Given the description of an element on the screen output the (x, y) to click on. 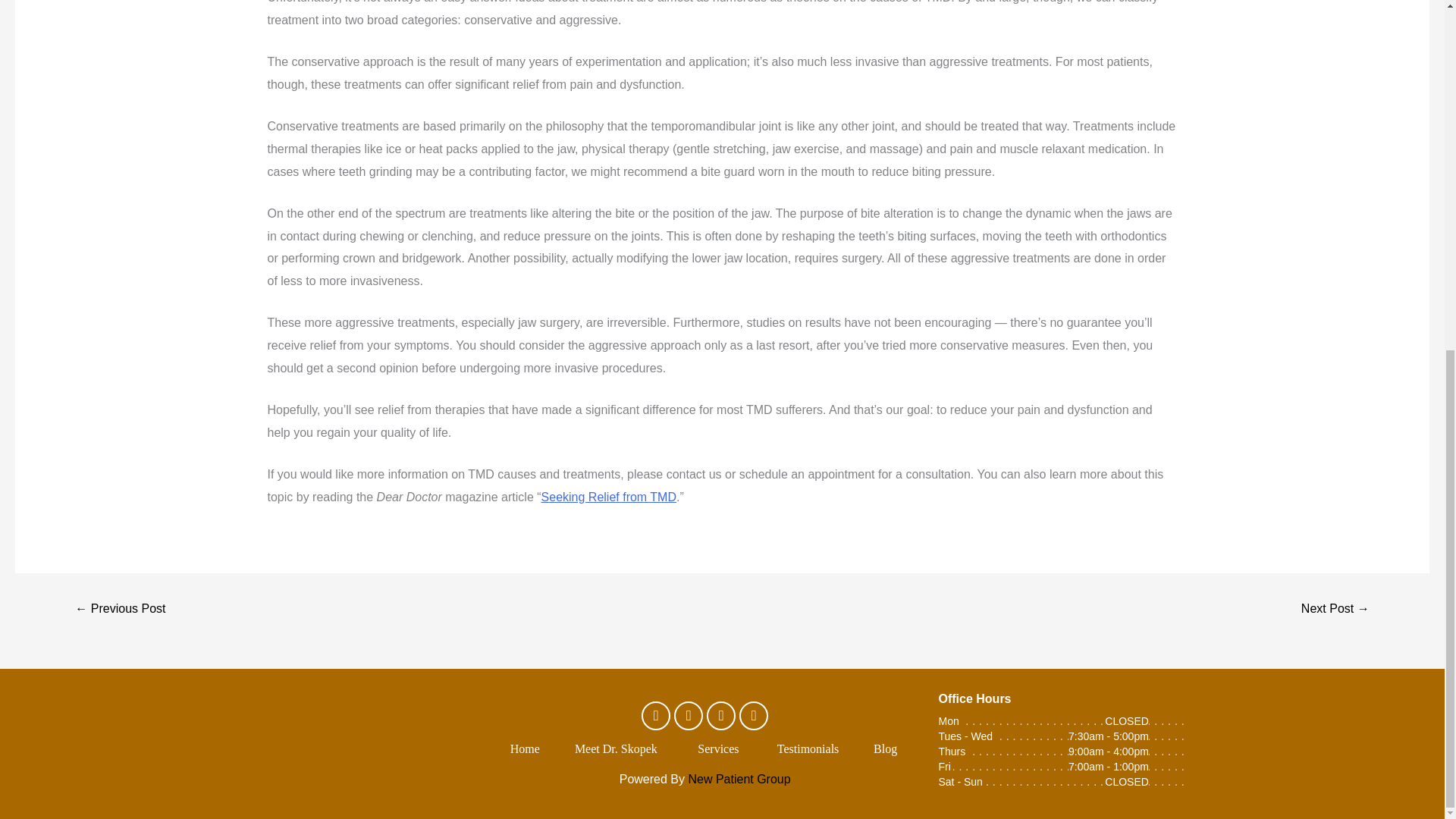
J-Lo's Unlucky Break: Chipping a Tooth on Stage (1334, 608)
